Given the description of an element on the screen output the (x, y) to click on. 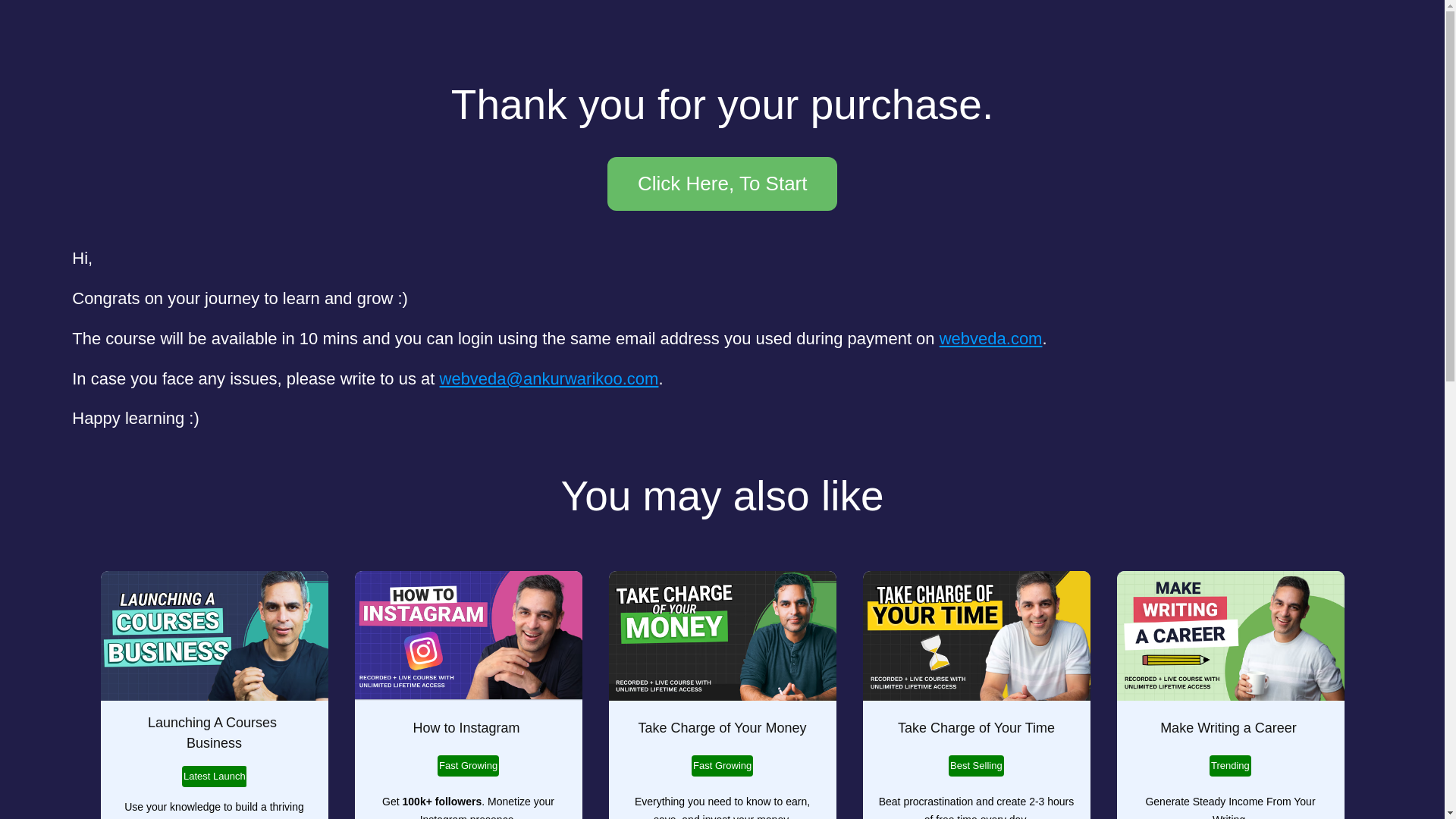
Make Writing a Career  (1230, 727)
How to Instagram  (467, 727)
Click Here, To Start (722, 183)
webveda.com (990, 338)
